Given the description of an element on the screen output the (x, y) to click on. 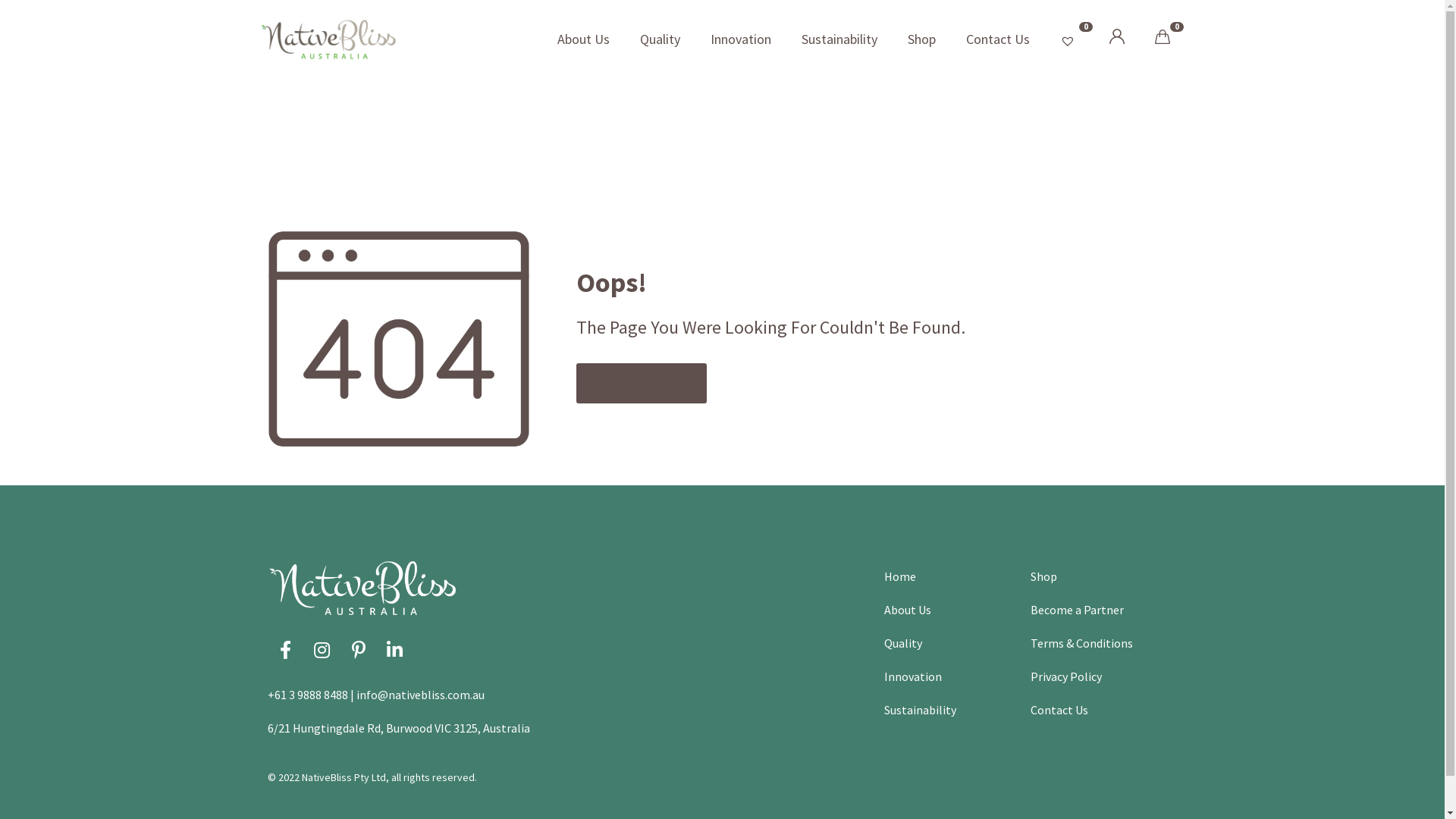
Terms & Conditions Element type: text (1081, 642)
Contact Us Element type: text (1059, 709)
Logo Element type: hover (327, 38)
Home Element type: text (900, 575)
Shop Element type: text (920, 38)
Contact Us Element type: text (997, 38)
404-1 Element type: hover (397, 338)
+61 3 9888 8488 Element type: text (306, 694)
Go To Home Element type: text (641, 383)
User Element type: text (1116, 38)
Innovation Element type: text (912, 676)
Sustainability Element type: text (920, 709)
Group-522 Element type: hover (1115, 35)
Sustainability Element type: text (838, 38)
Shop Element type: text (1043, 575)
Privacy Policy Element type: text (1065, 676)
Logo White Element type: hover (361, 587)
0 Element type: text (1161, 38)
Quality Element type: text (903, 642)
About Us Element type: text (582, 38)
Become a Partner Element type: text (1076, 609)
0 Element type: text (1069, 38)
About Us Element type: text (907, 609)
Innovation Element type: text (739, 38)
info@nativebliss.com.au Element type: text (420, 694)
Quality Element type: text (659, 38)
